Given the description of an element on the screen output the (x, y) to click on. 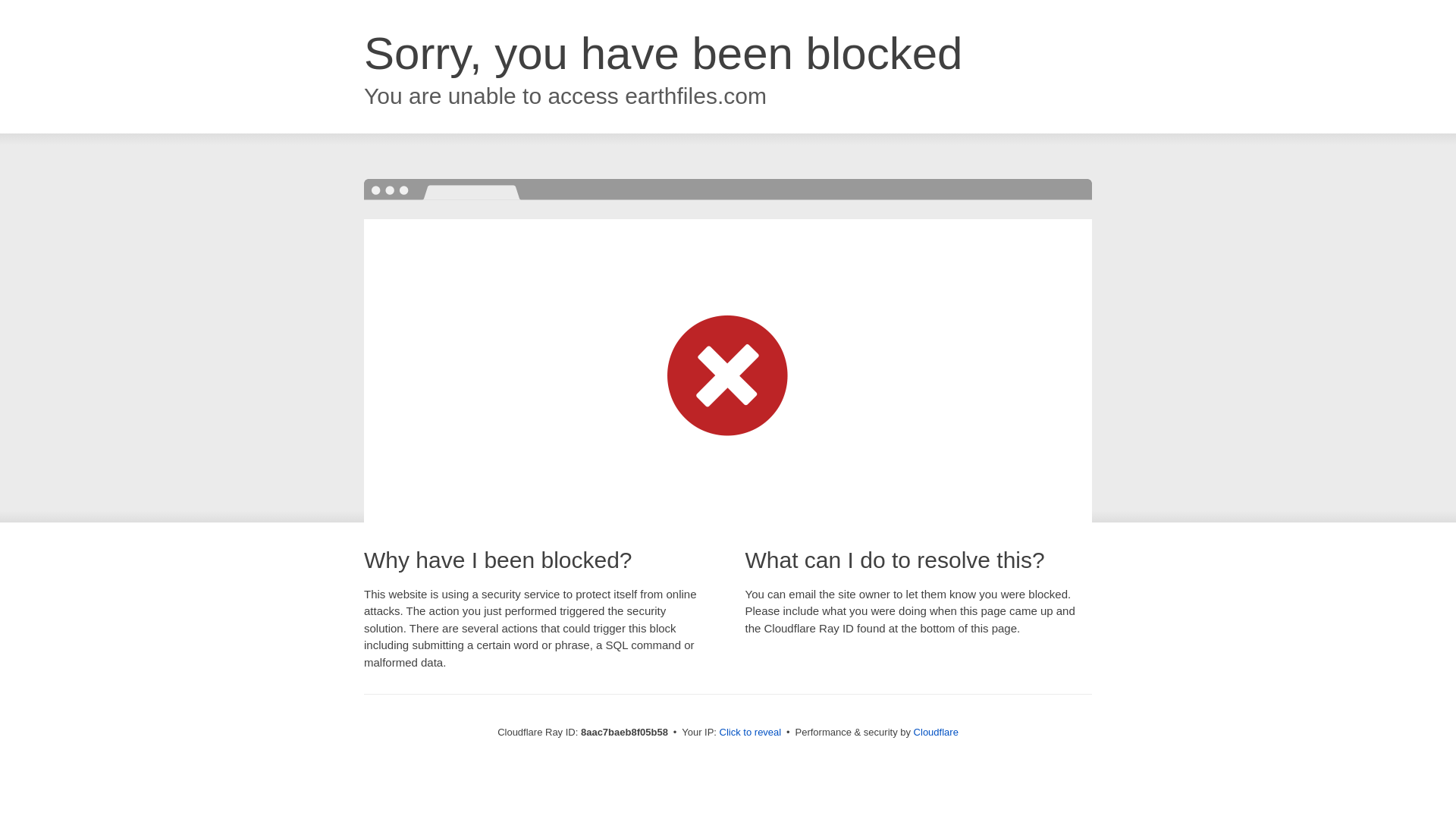
Click to reveal (750, 732)
Cloudflare (936, 731)
